Given the description of an element on the screen output the (x, y) to click on. 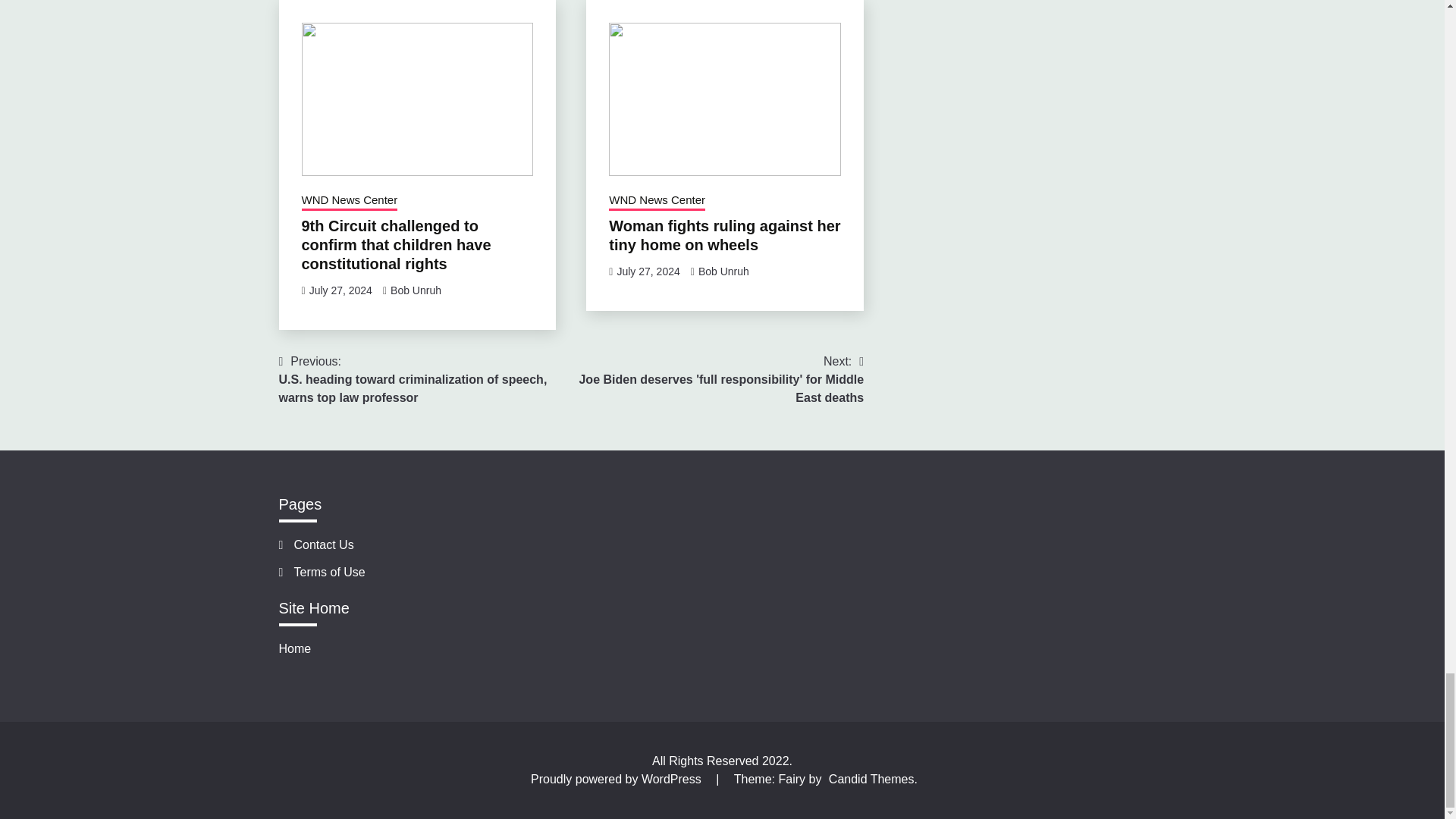
Woman fights ruling against her tiny home on wheels (724, 235)
WND News Center (349, 201)
Bob Unruh (415, 290)
July 27, 2024 (340, 290)
WND News Center (656, 201)
Bob Unruh (723, 271)
July 27, 2024 (647, 271)
